Given the description of an element on the screen output the (x, y) to click on. 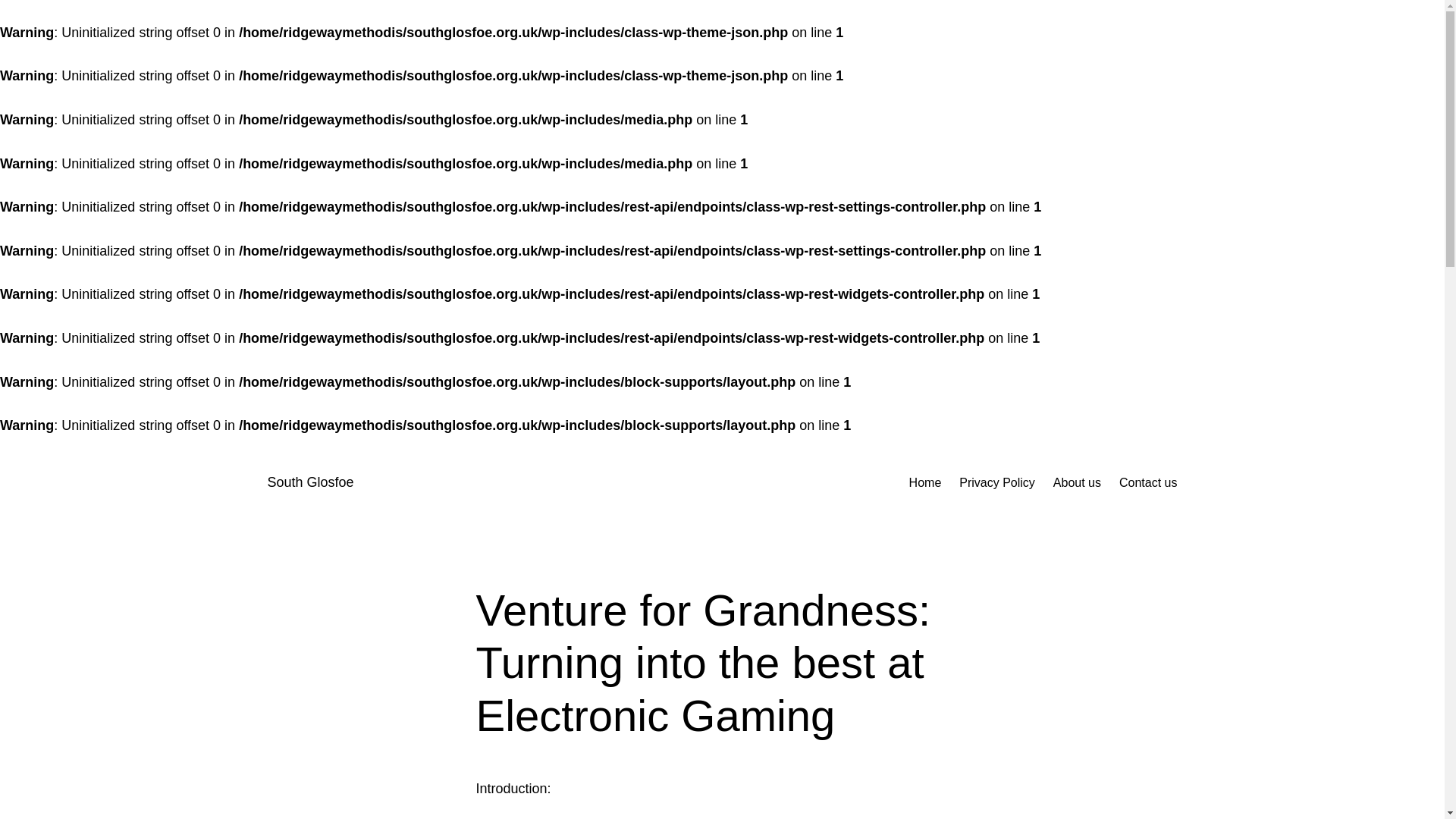
Contact us (1147, 483)
Home (925, 483)
South Glosfoe (309, 482)
About us (1076, 483)
Privacy Policy (997, 483)
